Given the description of an element on the screen output the (x, y) to click on. 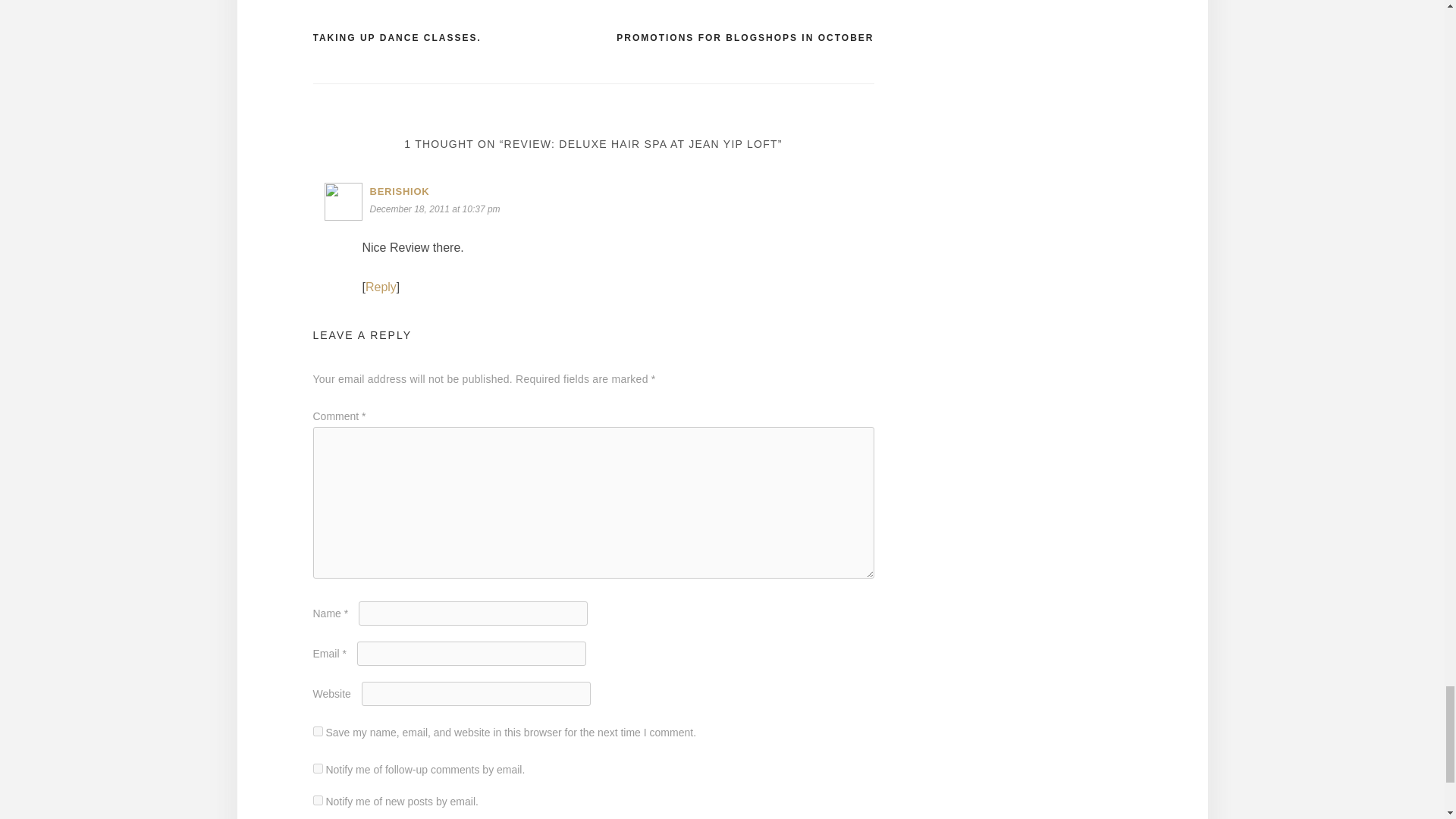
yes (317, 731)
subscribe (317, 800)
subscribe (317, 768)
